Given the description of an element on the screen output the (x, y) to click on. 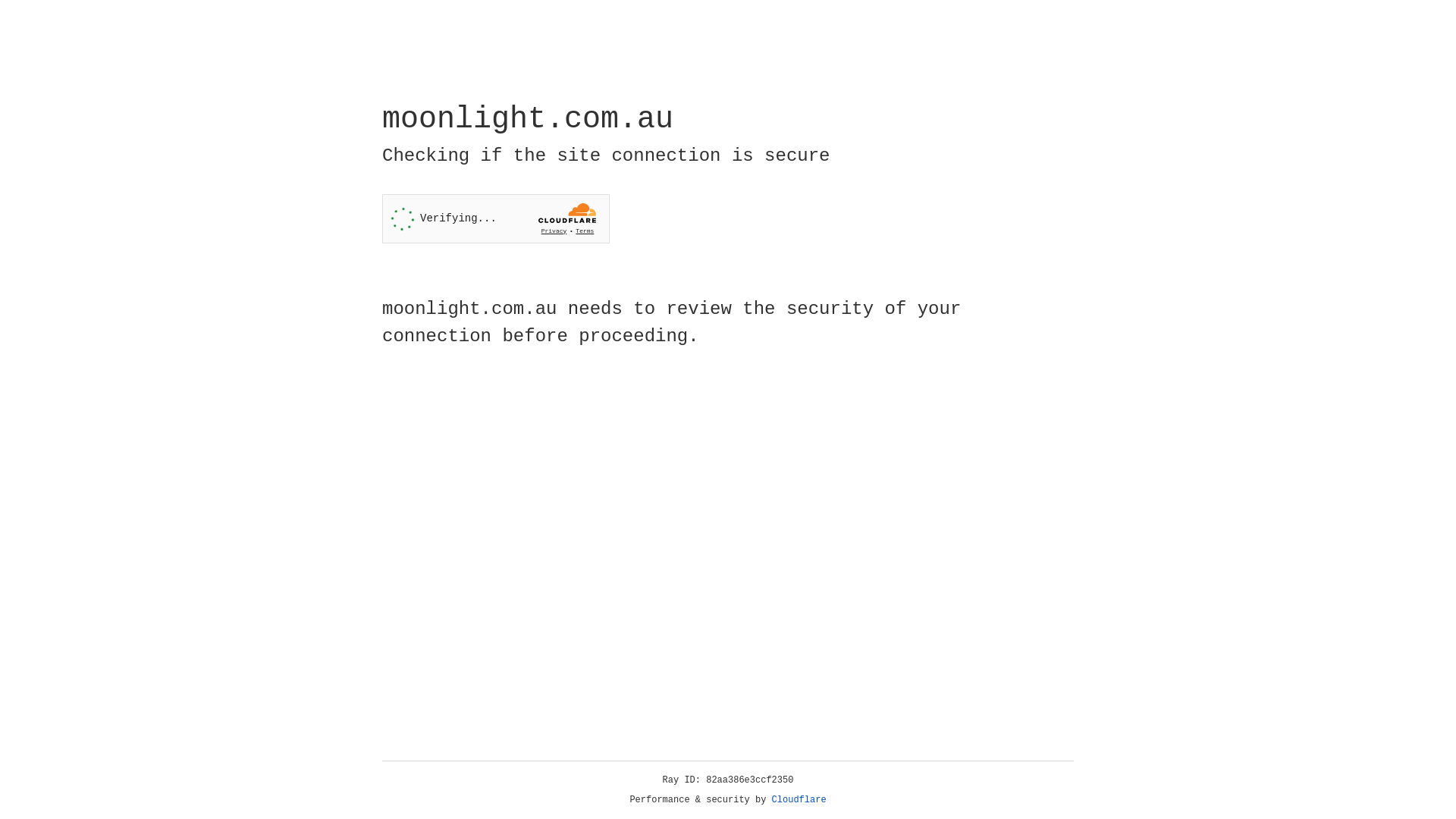
Widget containing a Cloudflare security challenge Element type: hover (495, 218)
Cloudflare Element type: text (798, 799)
